Given the description of an element on the screen output the (x, y) to click on. 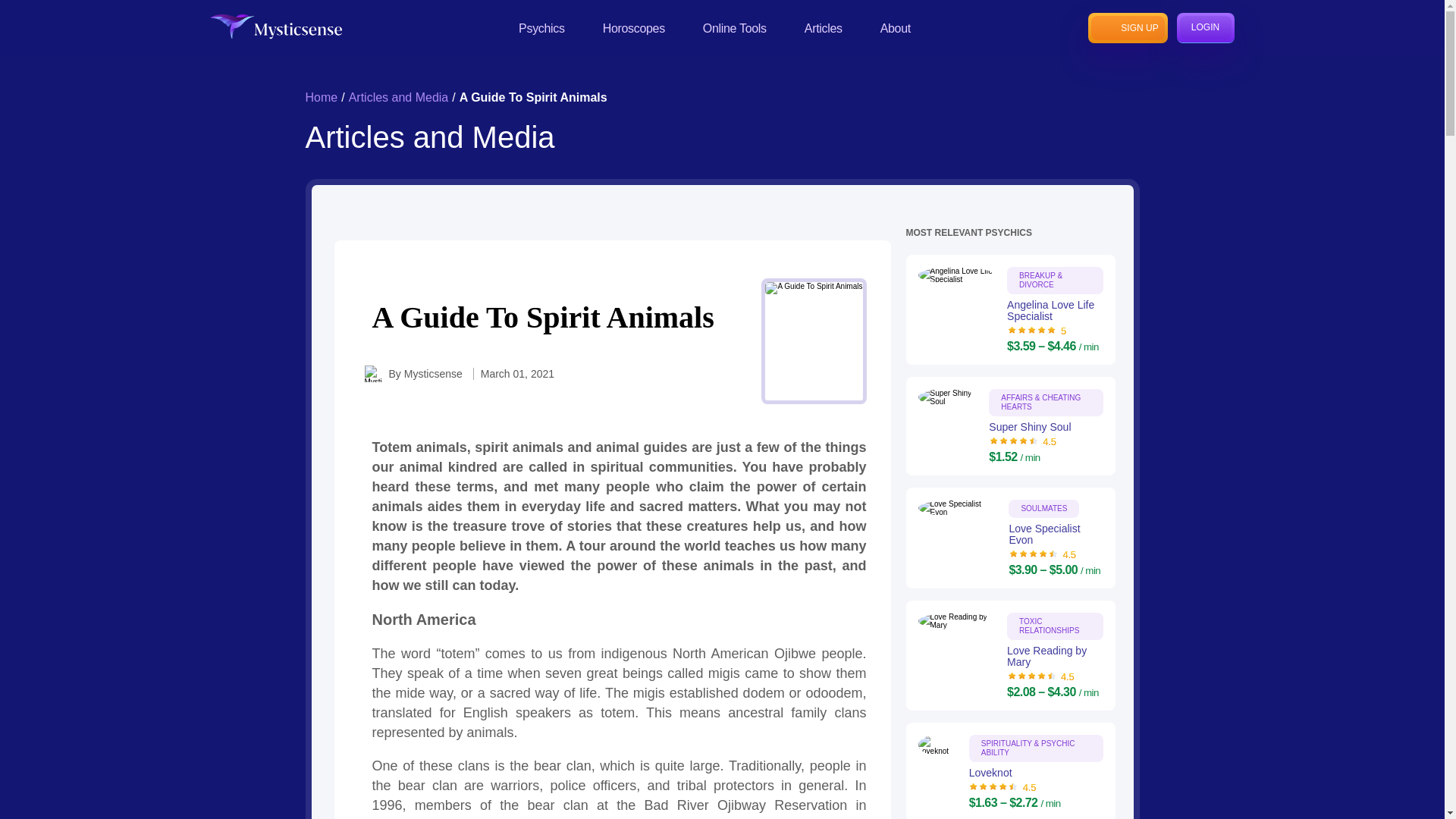
SIGN UP (1127, 27)
LOGIN (1205, 27)
Home (320, 97)
Horoscopes (633, 27)
Articles and Media (398, 97)
About (895, 27)
Online Tools (735, 27)
Articles (823, 27)
Psychics (541, 27)
